Given the description of an element on the screen output the (x, y) to click on. 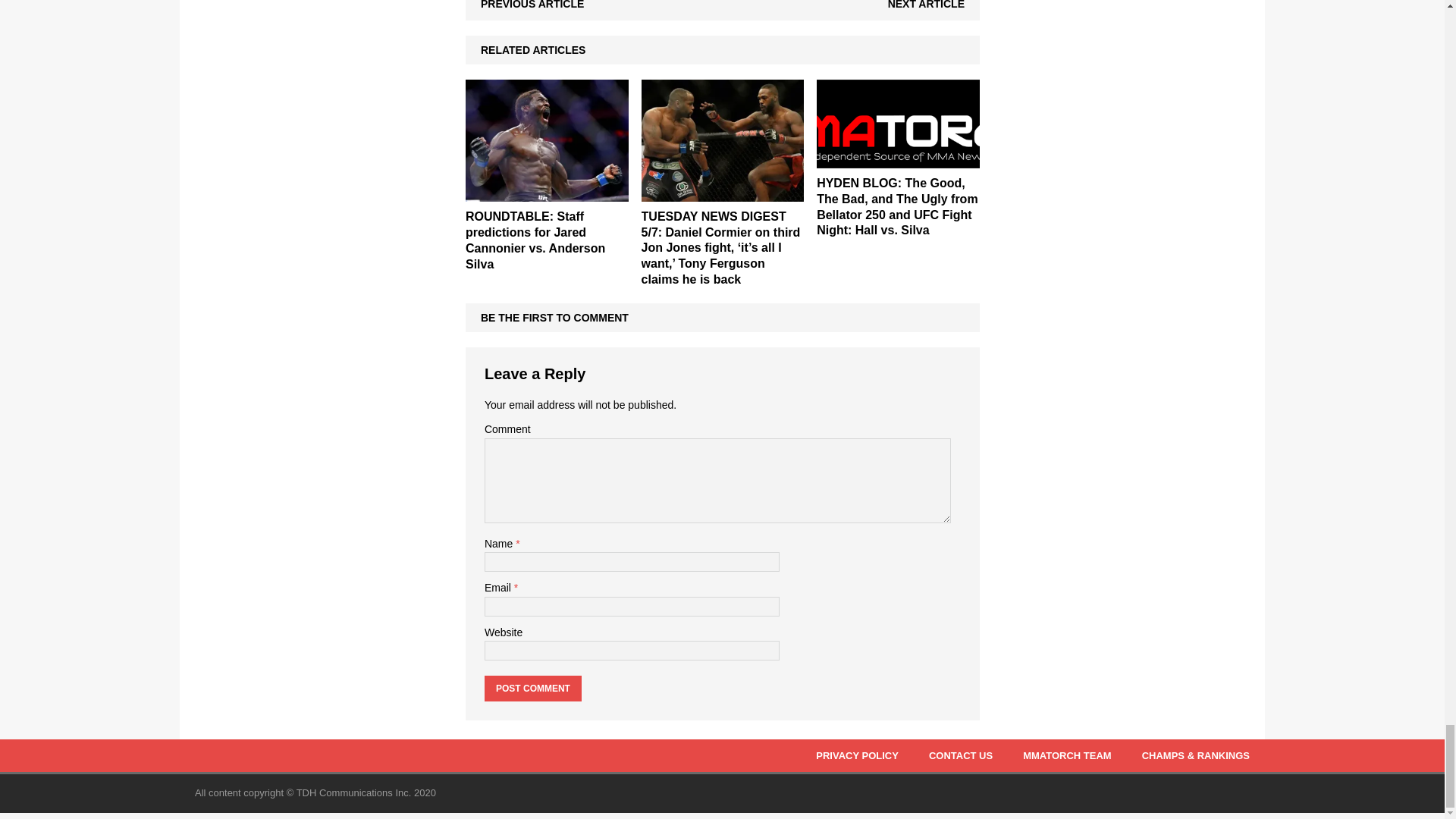
Post Comment (532, 688)
